Given the description of an element on the screen output the (x, y) to click on. 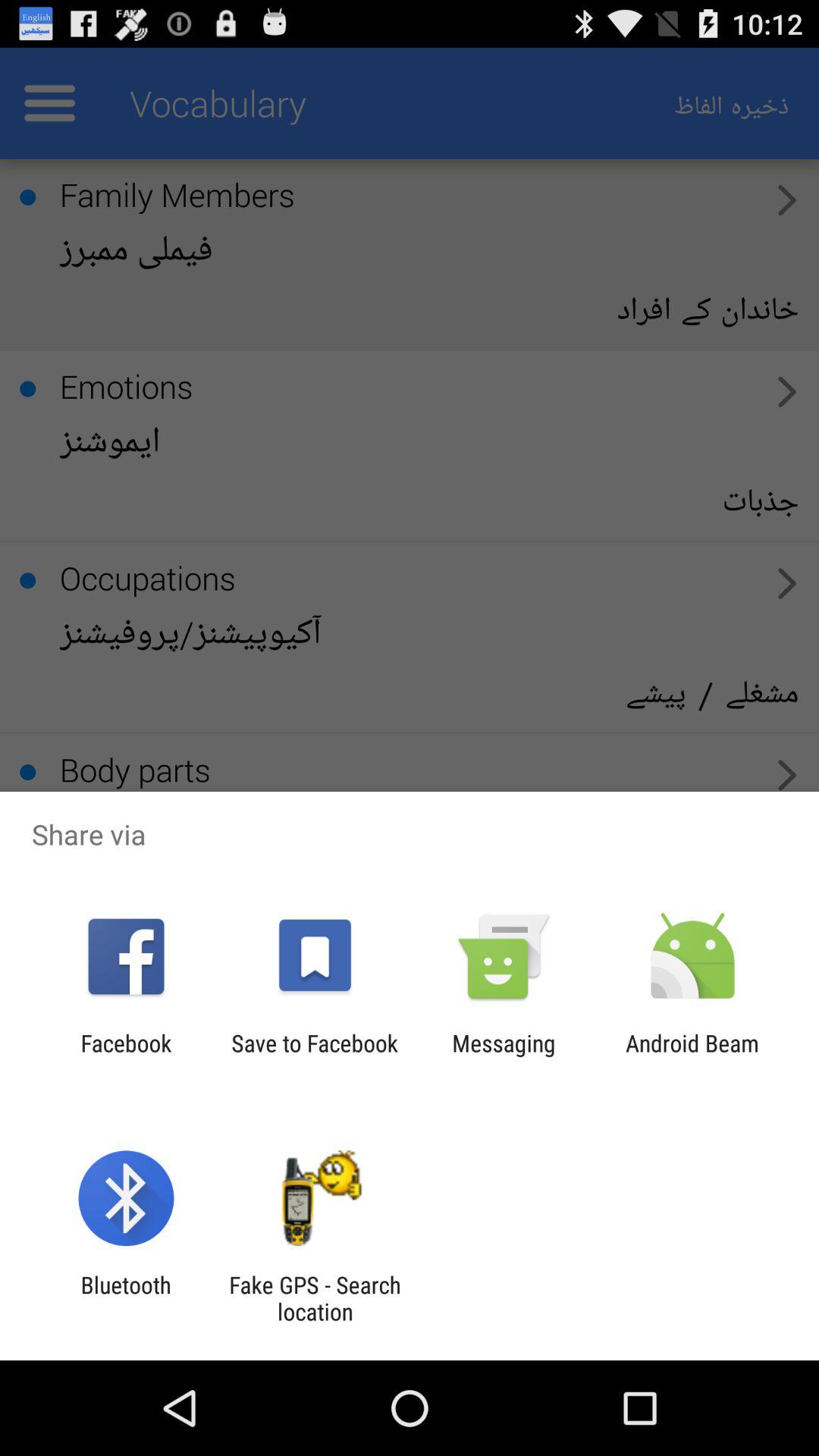
open app to the right of facebook icon (314, 1056)
